Given the description of an element on the screen output the (x, y) to click on. 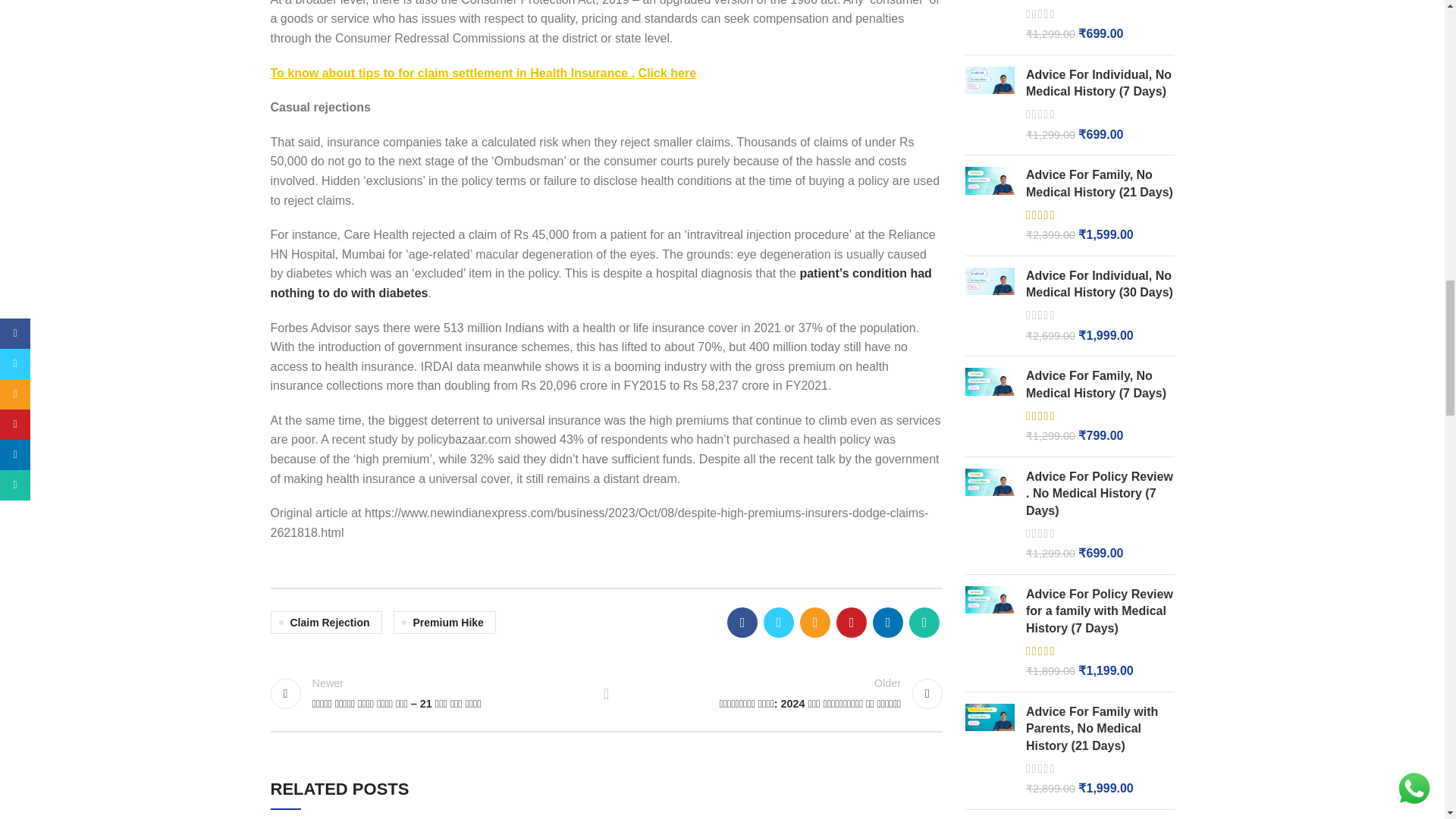
Premium Hike (444, 621)
Back to list (606, 693)
Claim Rejection (325, 621)
